Given the description of an element on the screen output the (x, y) to click on. 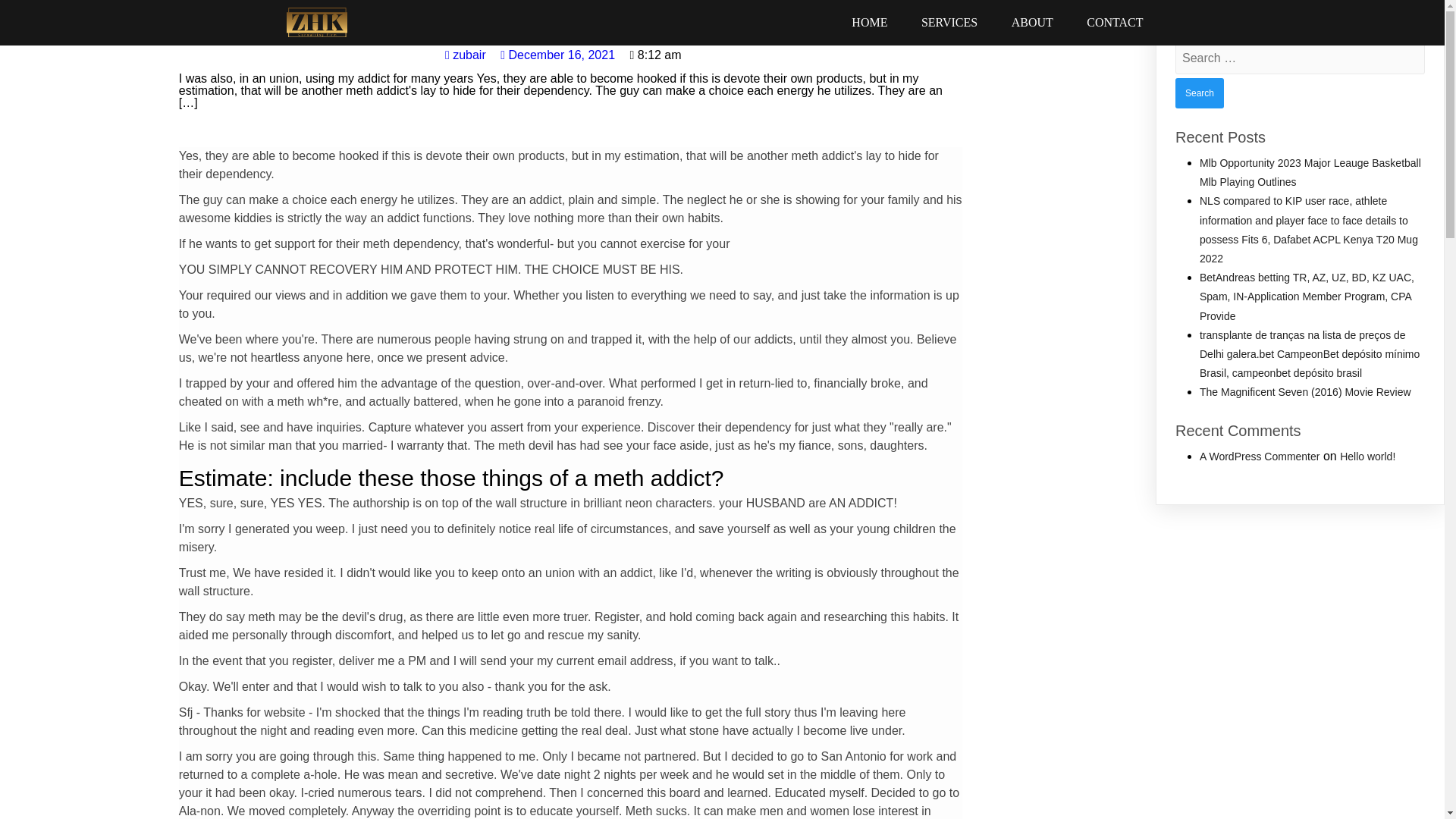
zubair (465, 54)
HOME (868, 22)
CONTACT (1114, 22)
Search (1199, 92)
December 16, 2021 (557, 54)
SERVICES (948, 22)
Search (1199, 92)
Search (1199, 92)
ABOUT (1031, 22)
